Given the description of an element on the screen output the (x, y) to click on. 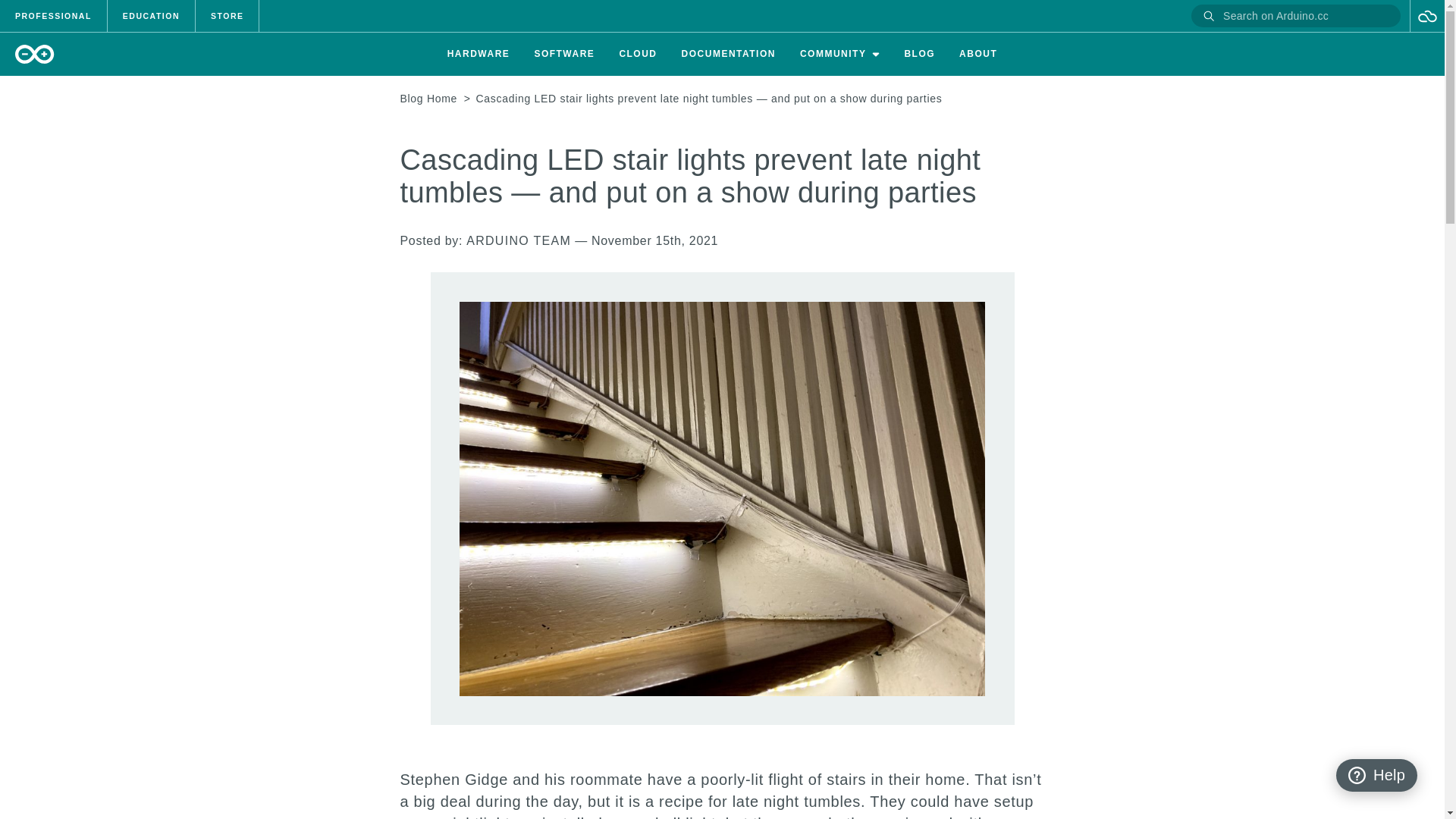
About (978, 53)
HARDWARE (478, 54)
COMMUNITY (839, 54)
STORE (227, 15)
DOCUMENTATION (728, 54)
ABOUT (978, 54)
SOFTWARE (564, 54)
Community (832, 53)
Cloud (637, 53)
Go to Home Page (429, 98)
Documentation (728, 53)
EDUCATION (151, 15)
Blog (919, 53)
PROFESSIONAL (53, 15)
Hardware (478, 53)
